Given the description of an element on the screen output the (x, y) to click on. 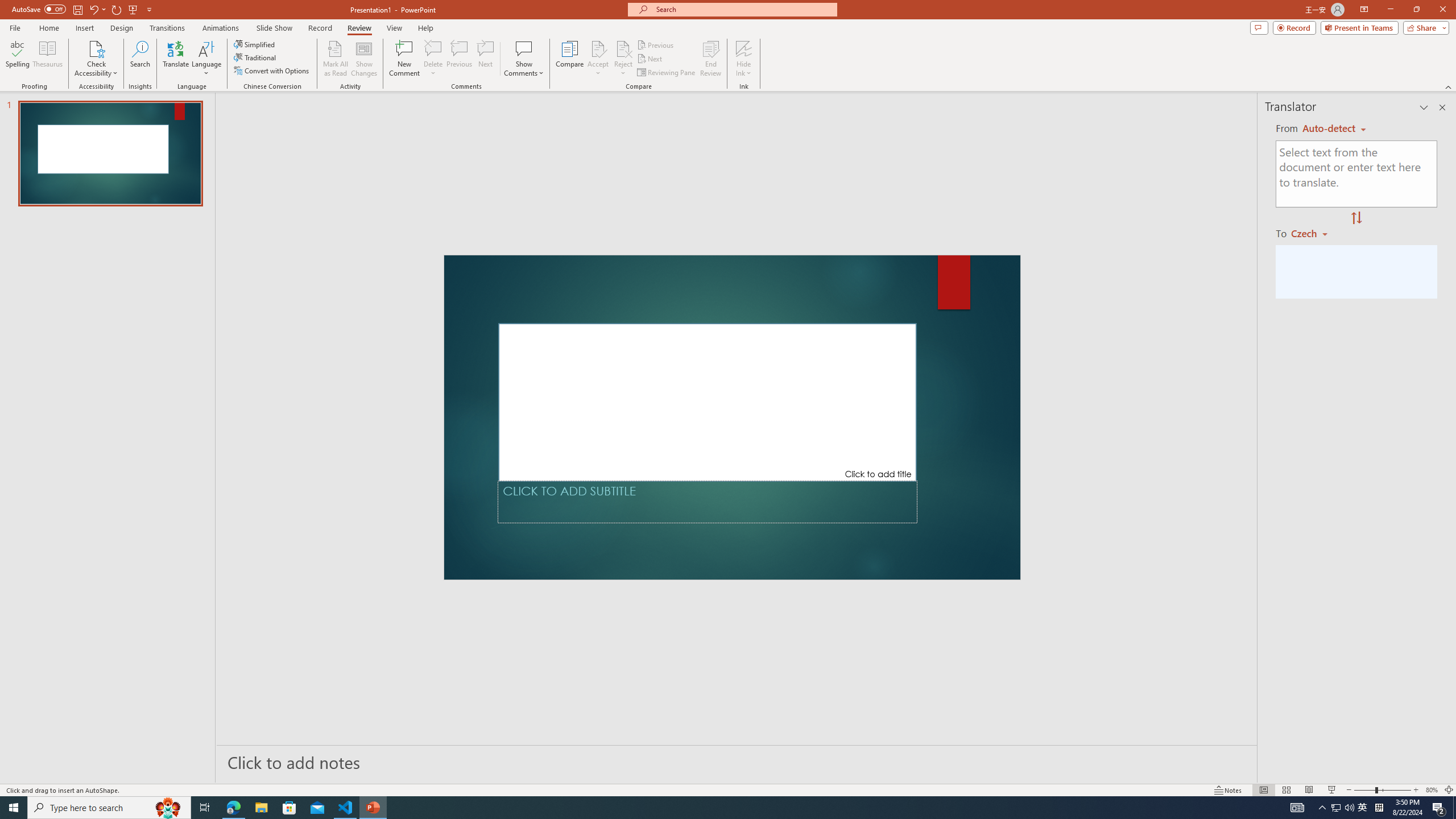
Translate (175, 58)
English (1334, 128)
Show Comments (524, 58)
Subtitle TextBox (707, 501)
Compare (569, 58)
Spelling... (17, 58)
